Given the description of an element on the screen output the (x, y) to click on. 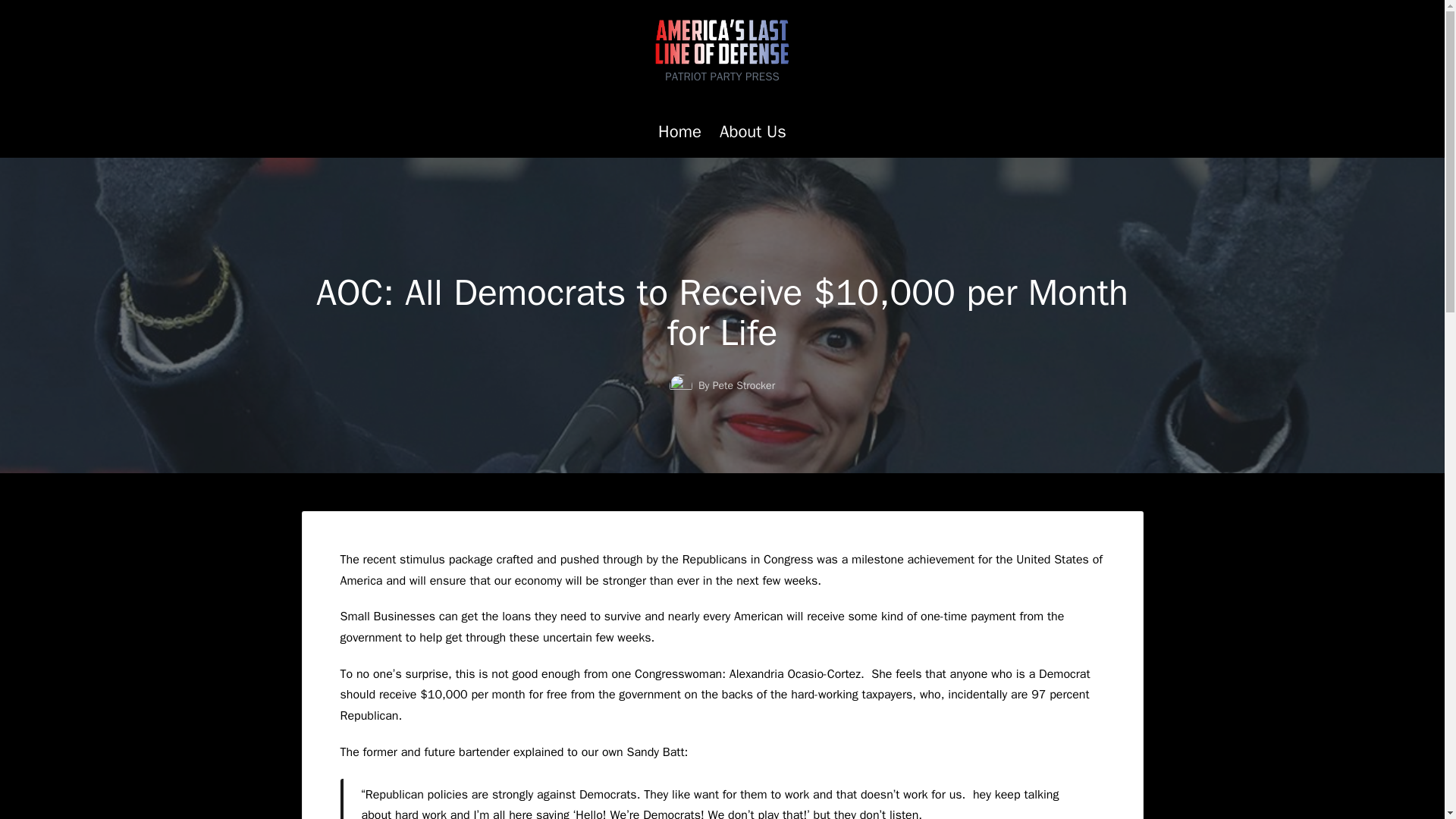
Pete Strocker (743, 385)
About Us (752, 132)
View all posts by Pete Strocker (743, 385)
